Given the description of an element on the screen output the (x, y) to click on. 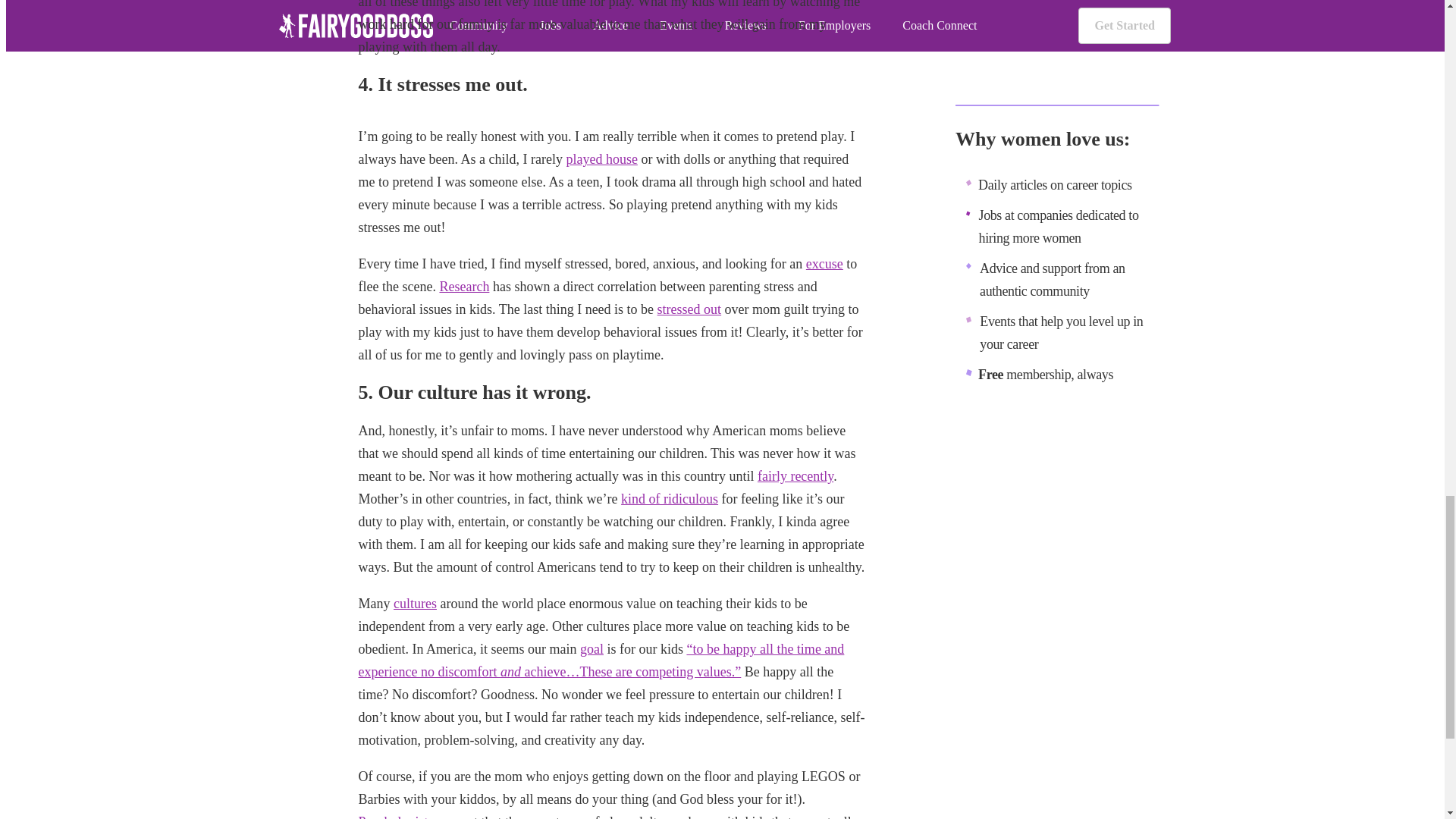
goal (591, 648)
cultures (414, 603)
played house (601, 159)
kind of ridiculous (669, 498)
stressed out (690, 309)
excuse (824, 263)
fairly recently (794, 476)
Research (464, 286)
